Given the description of an element on the screen output the (x, y) to click on. 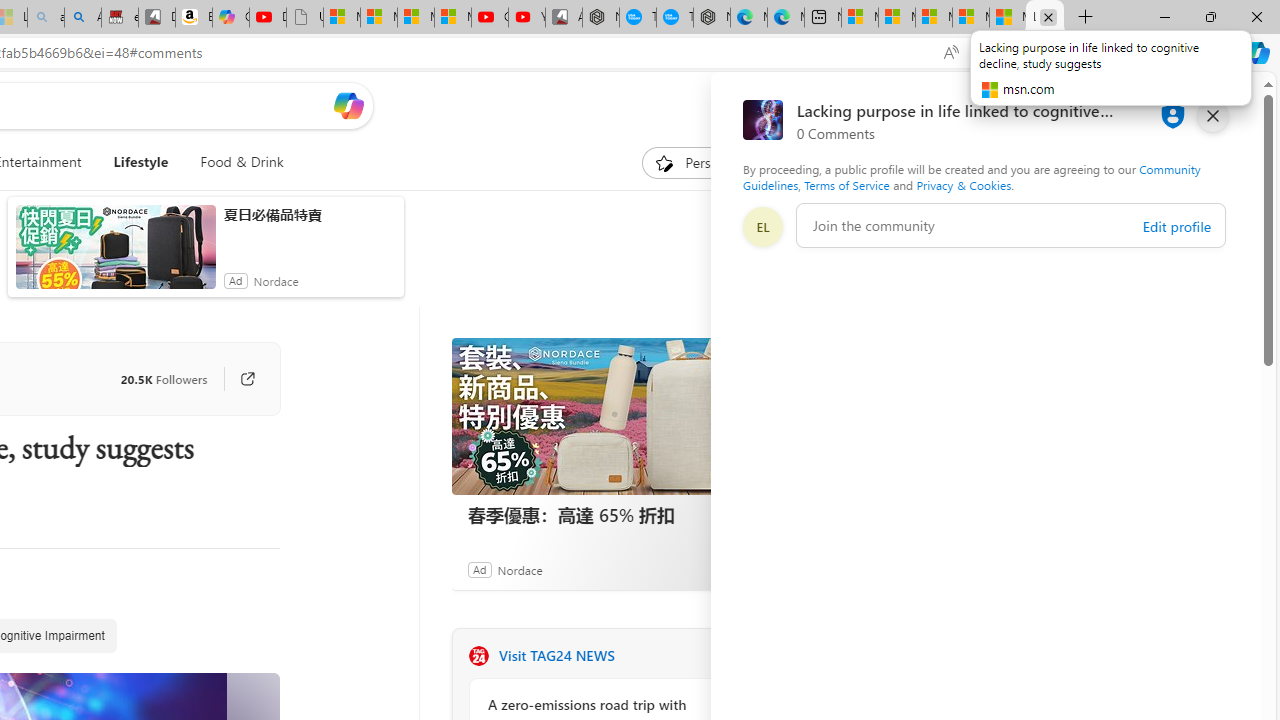
Copilot (230, 17)
Terms of Service (846, 184)
Edit profile (1175, 226)
Visit TAG24 NEWS website (726, 655)
anim-content (115, 255)
Community Guidelines (971, 176)
